Given the description of an element on the screen output the (x, y) to click on. 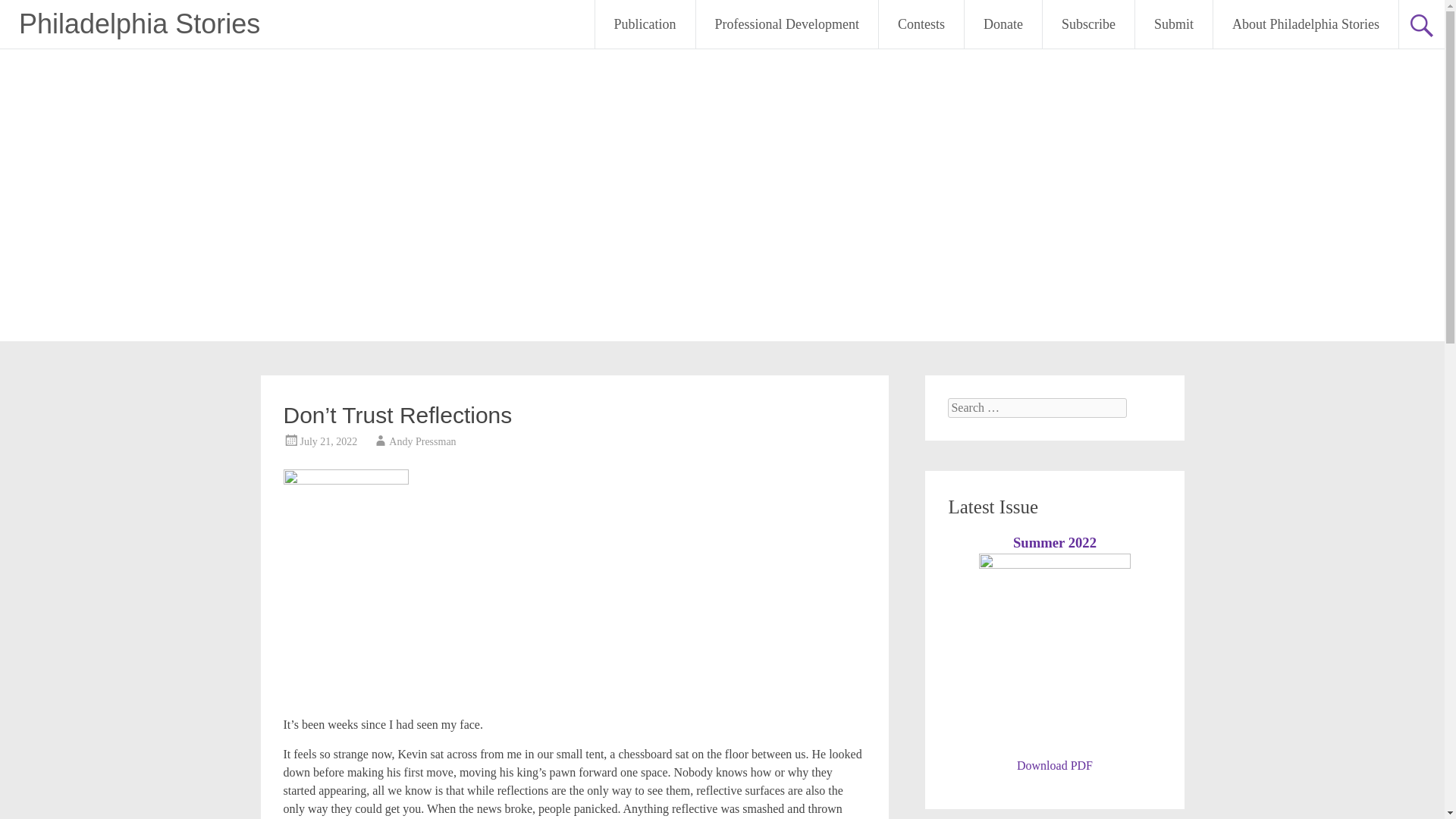
Contests (921, 24)
Philadelphia Stories (139, 23)
Download PDF (1054, 765)
Andy Pressman (421, 441)
Summer 2022 (1054, 542)
About Philadelphia Stories (1304, 24)
Search (26, 12)
Philadelphia Stories (139, 23)
Subscribe (1088, 24)
Submit (1173, 24)
